Given the description of an element on the screen output the (x, y) to click on. 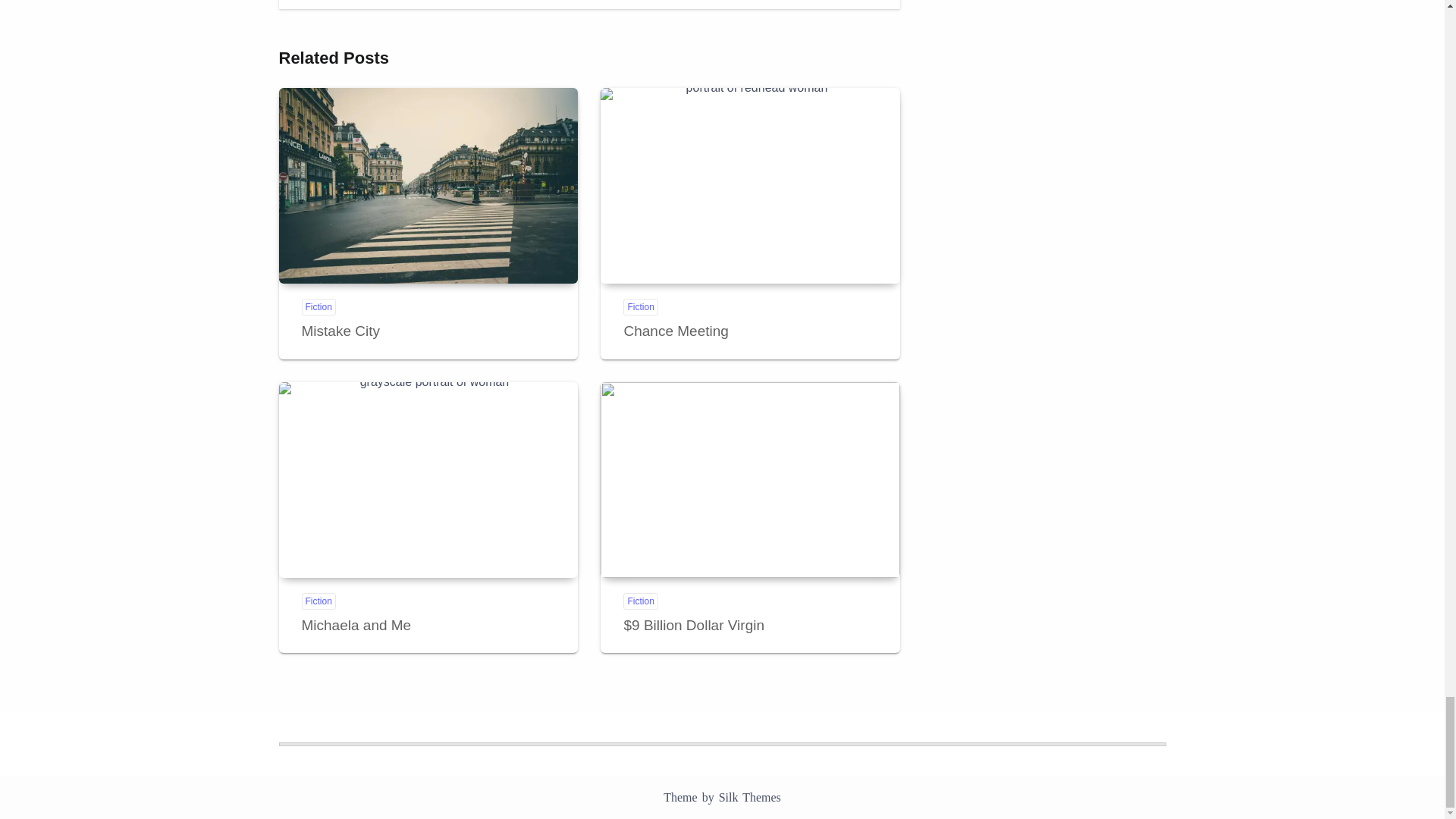
Michaela and Me (356, 625)
Fiction (318, 600)
Michaela and Me (428, 480)
Fiction (640, 306)
Chance Meeting (675, 330)
Mistake City (428, 185)
Chance Meeting (749, 185)
Fiction (318, 306)
Mistake City (340, 330)
